Given the description of an element on the screen output the (x, y) to click on. 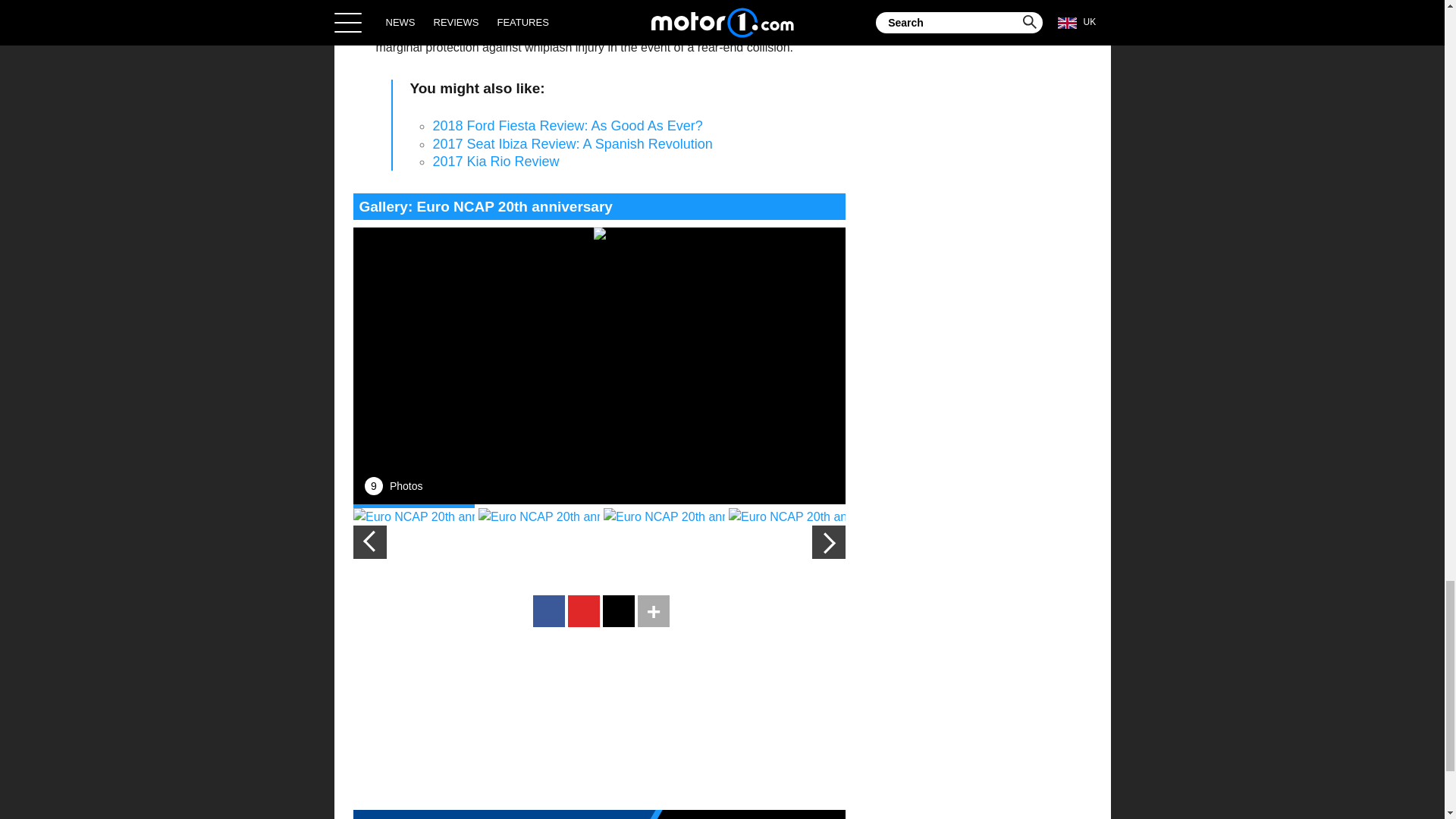
2018 Ford Fiesta Review: As Good As Ever? (566, 125)
2017 Seat Ibiza Review: A Spanish Revolution (571, 143)
2017 Kia Rio Review (495, 160)
